Given the description of an element on the screen output the (x, y) to click on. 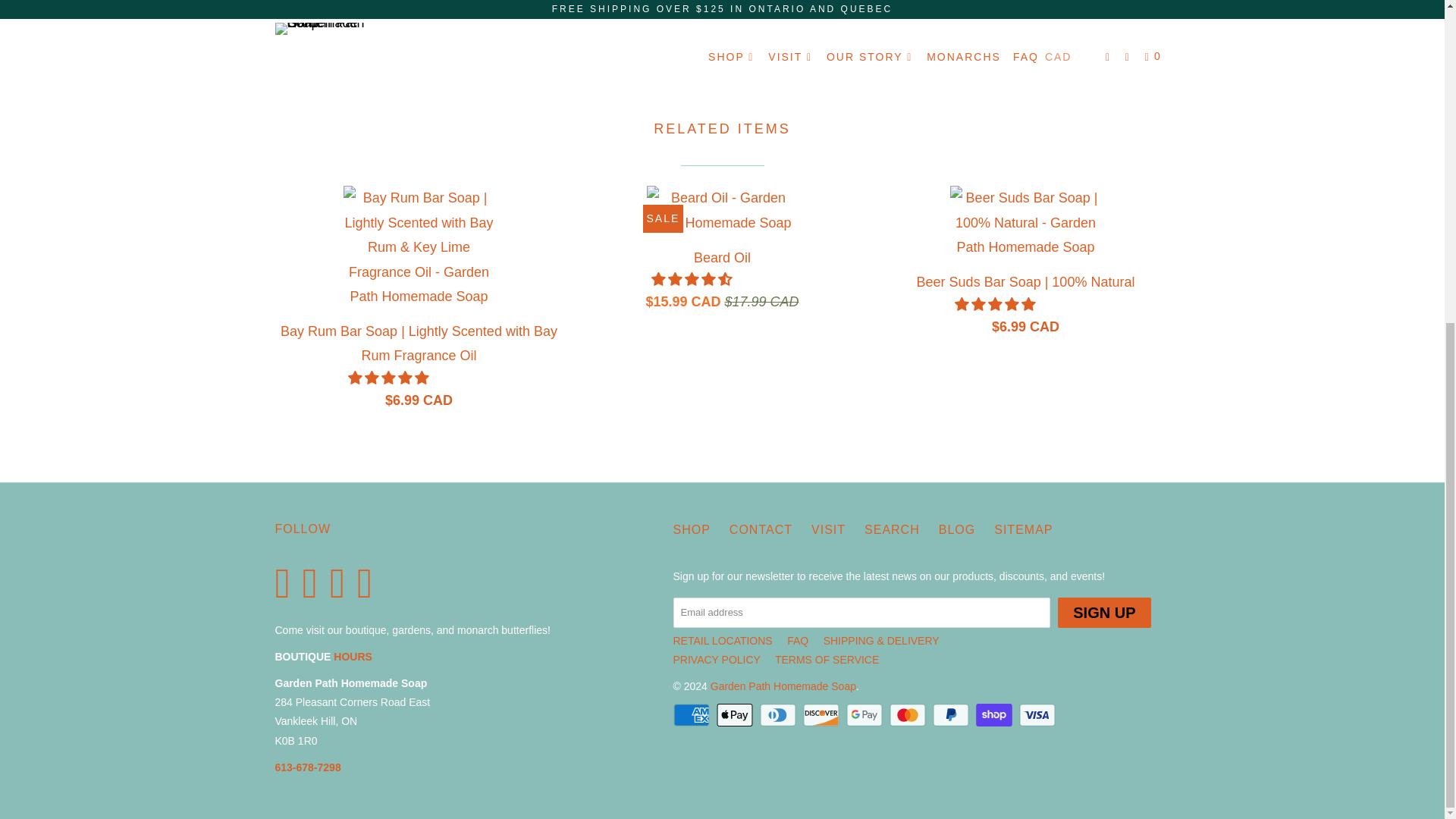
Shop Pay (994, 714)
Apple Pay (735, 714)
Sign Up (1104, 612)
Diners Club (779, 714)
American Express (692, 714)
Mastercard (908, 714)
Google Pay (865, 714)
Discover (823, 714)
PayPal (952, 714)
Visa (1038, 714)
